Given the description of an element on the screen output the (x, y) to click on. 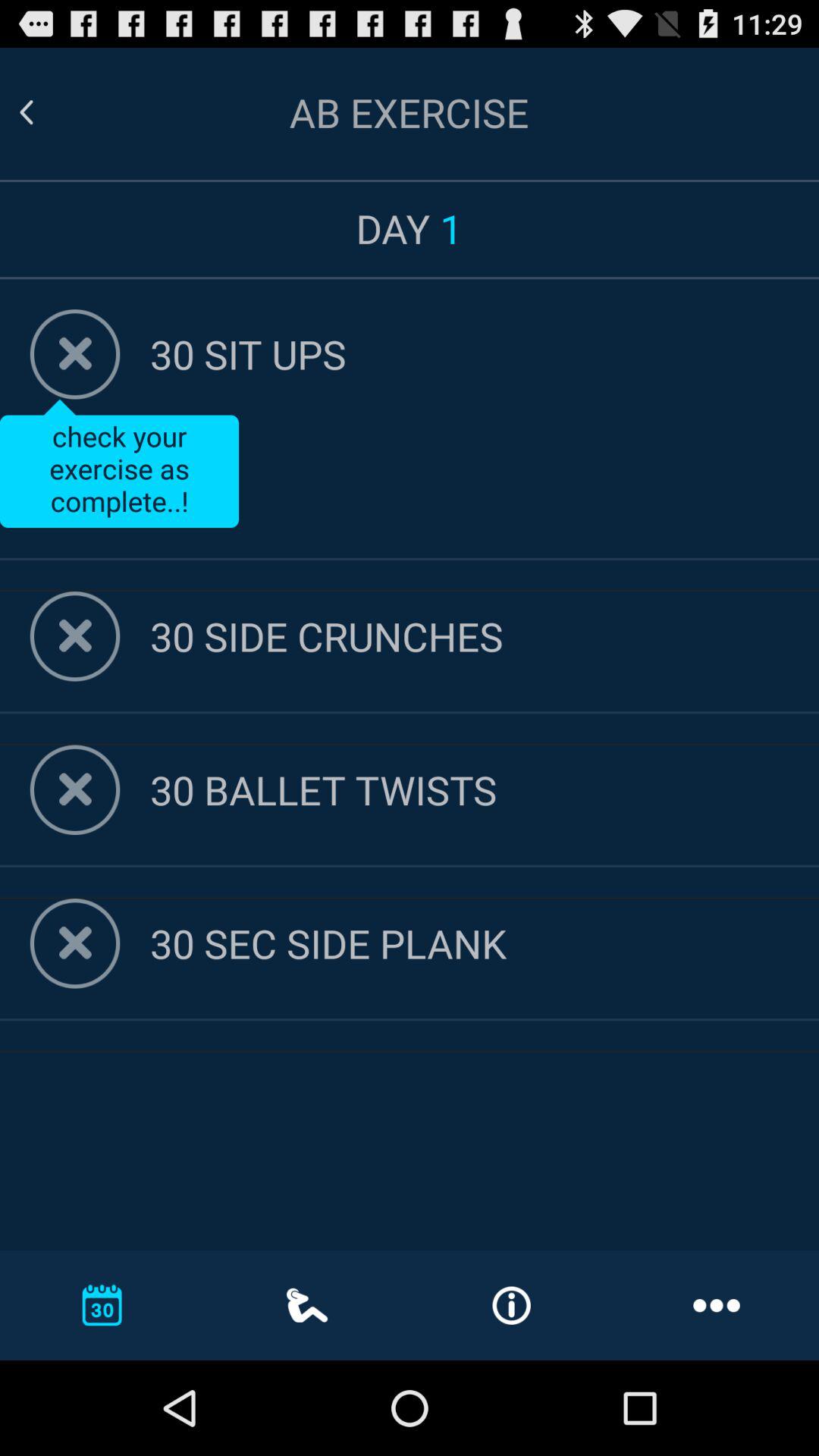
click the 30 ballet twists (484, 789)
